Given the description of an element on the screen output the (x, y) to click on. 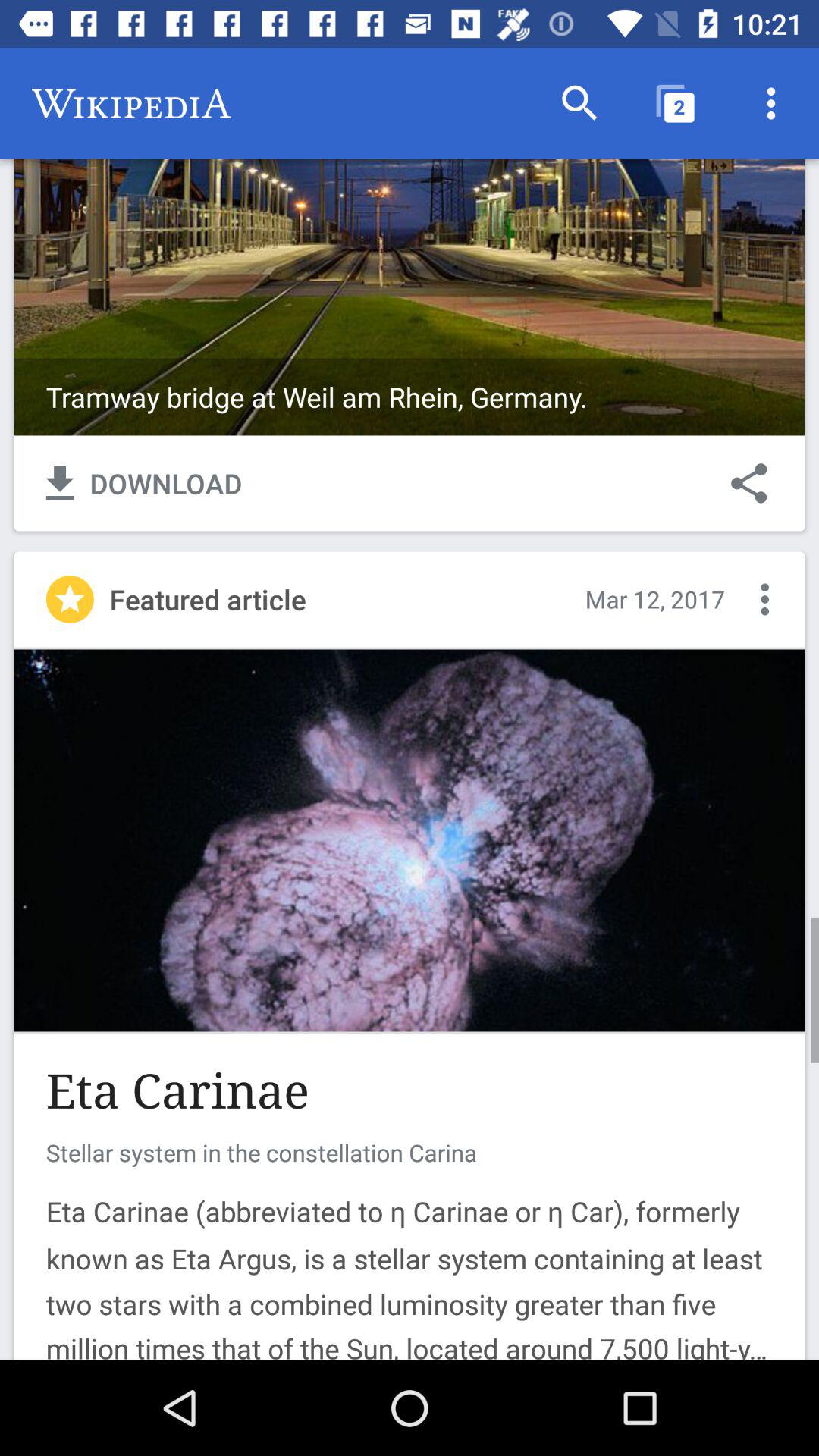
picture (409, 840)
